Given the description of an element on the screen output the (x, y) to click on. 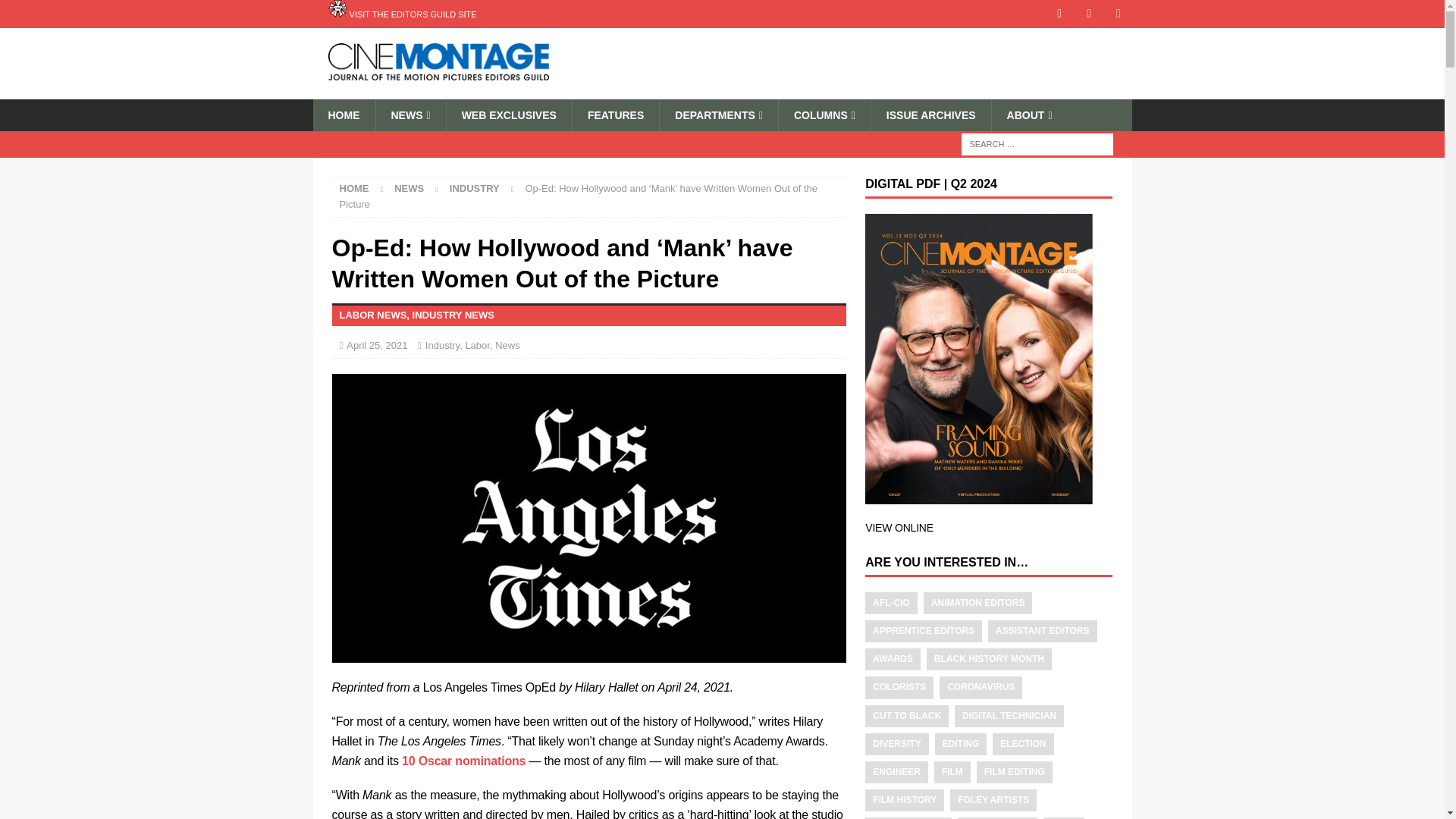
Industry (474, 188)
Home (354, 188)
VISIT THE EDITORS GUILD SITE (402, 13)
